Given the description of an element on the screen output the (x, y) to click on. 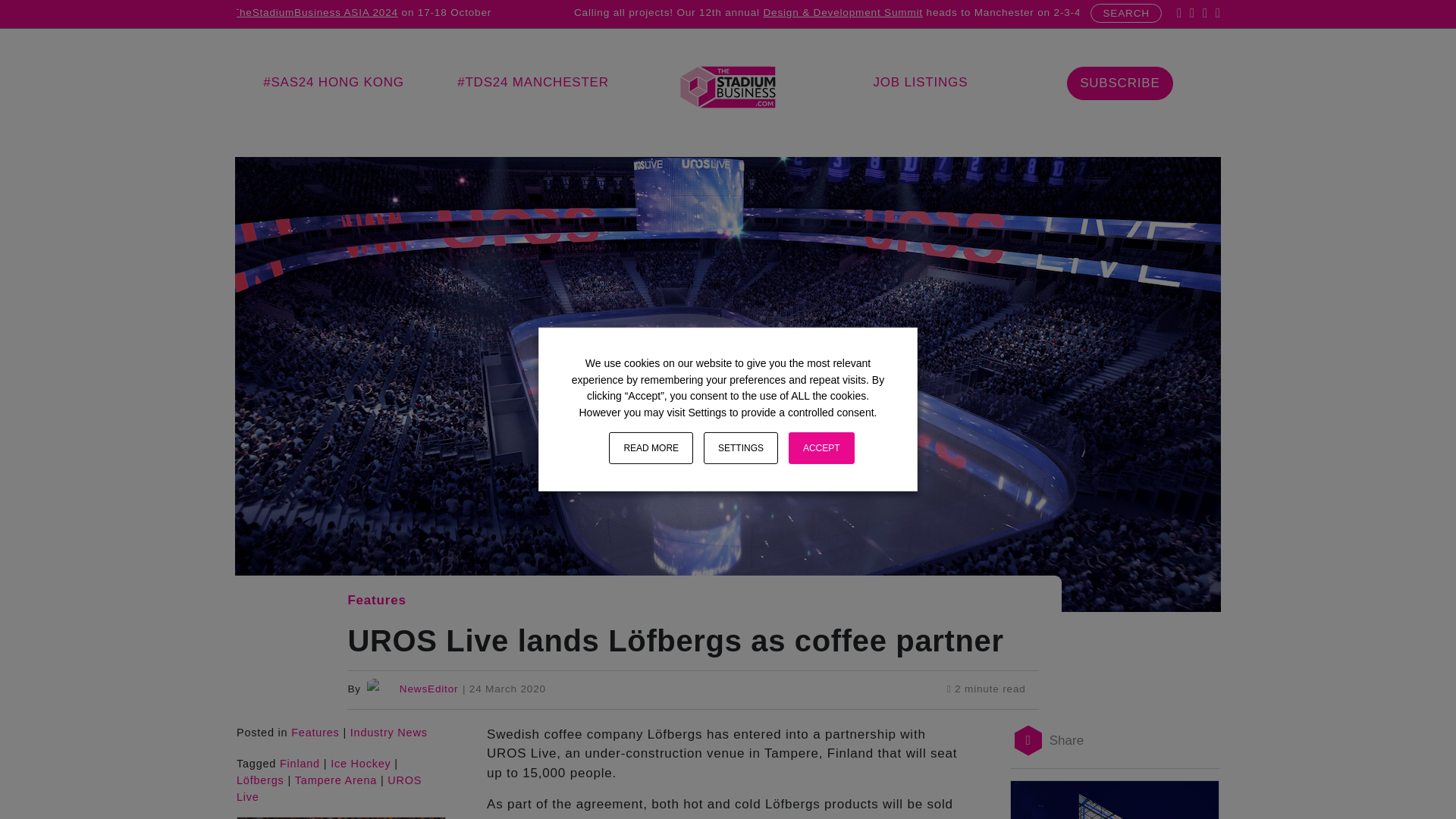
Job Listings (920, 82)
Subscribe (1119, 82)
